Given the description of an element on the screen output the (x, y) to click on. 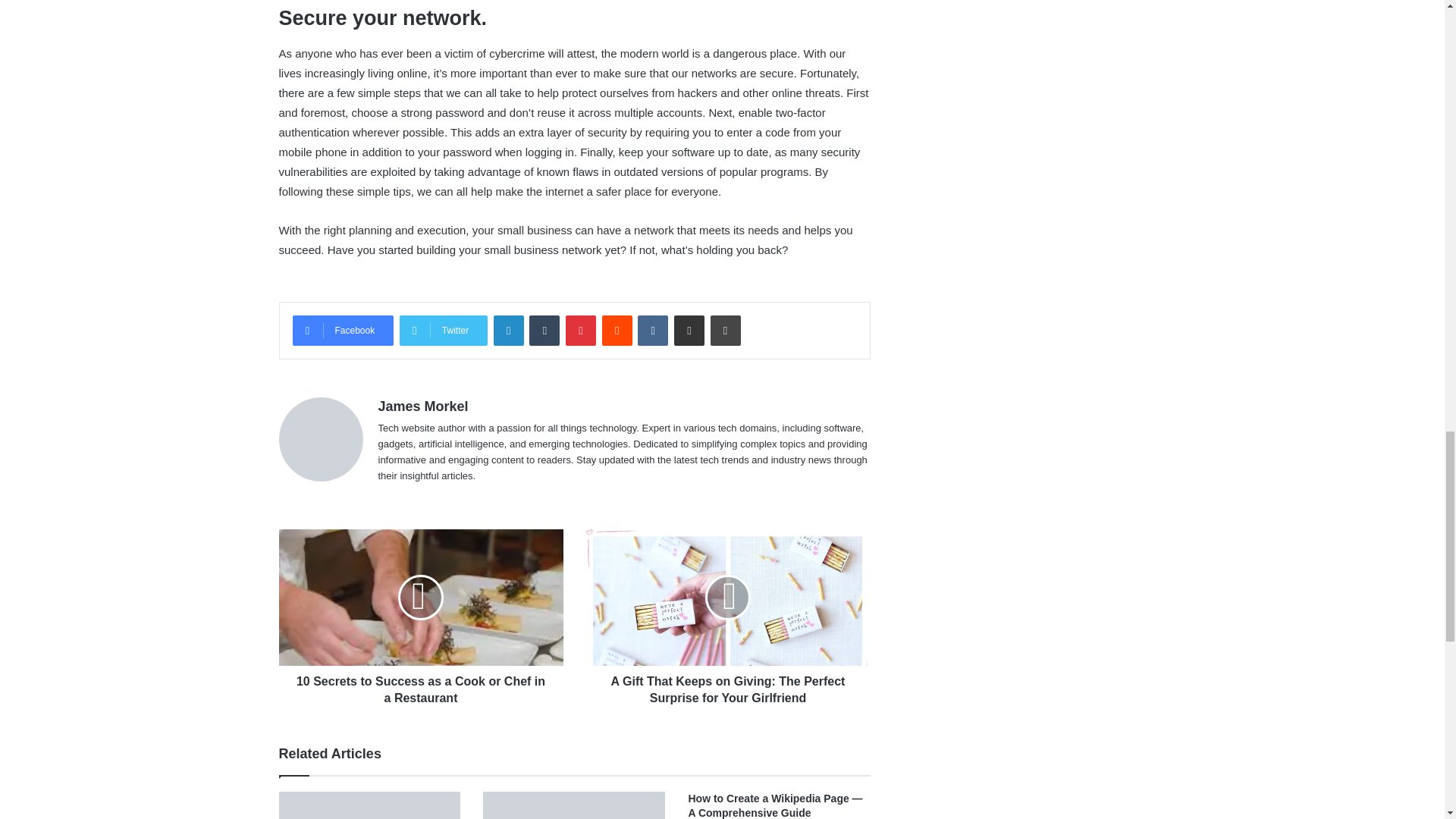
Share via Email (689, 330)
Facebook (343, 330)
Reddit (616, 330)
Print (725, 330)
Tumblr (544, 330)
Twitter (442, 330)
Pinterest (580, 330)
10 Secrets to Success as a Cook or Chef in a Restaurant (421, 685)
Twitter (442, 330)
LinkedIn (508, 330)
